Given the description of an element on the screen output the (x, y) to click on. 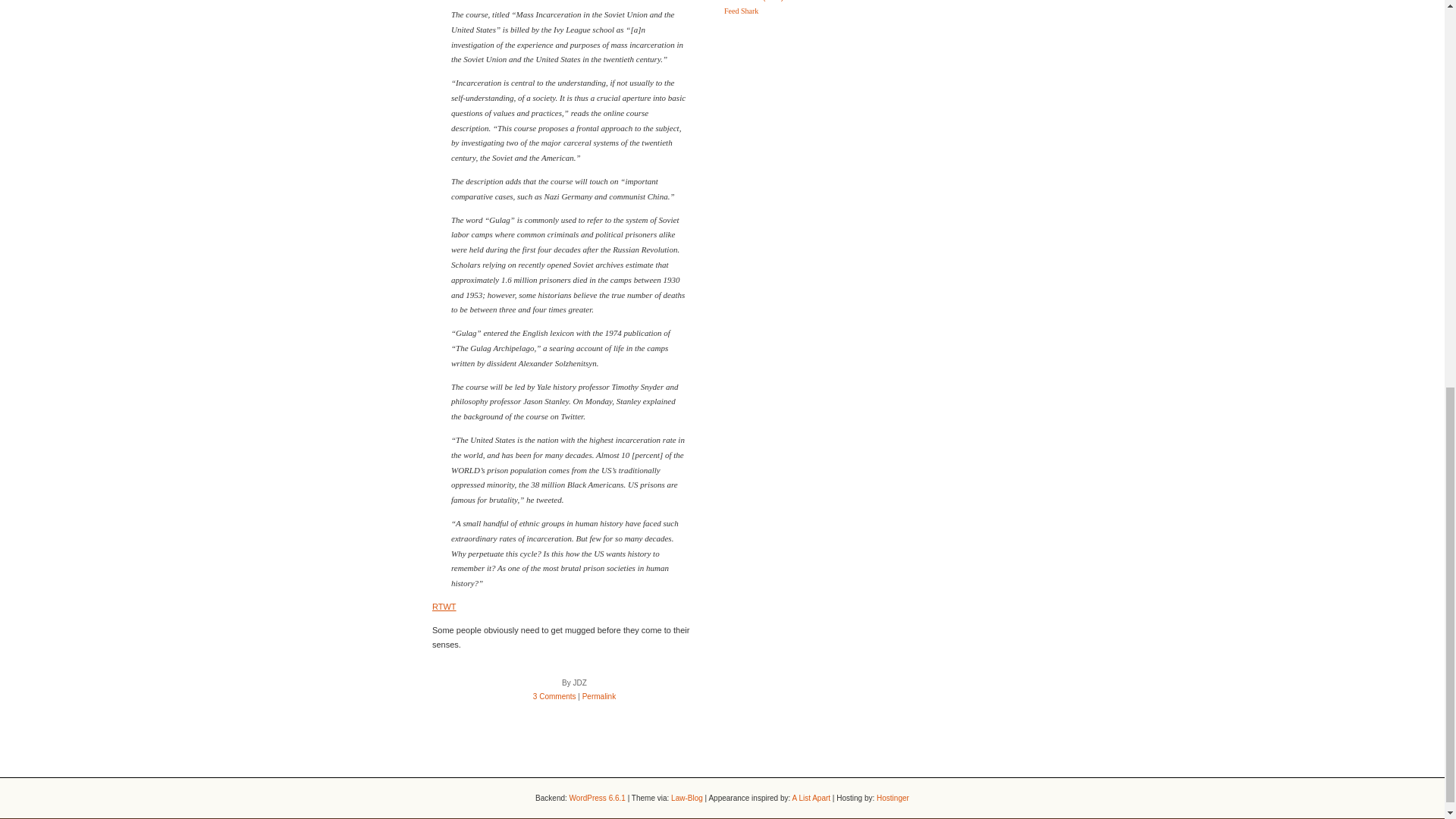
Permalink (598, 696)
RTWT (444, 605)
Law-Blog (687, 797)
3 Comments (554, 696)
WordPress 6.6.1 (597, 797)
Feed Shark (740, 10)
Hostinger (892, 797)
A List Apart (810, 797)
